Given the description of an element on the screen output the (x, y) to click on. 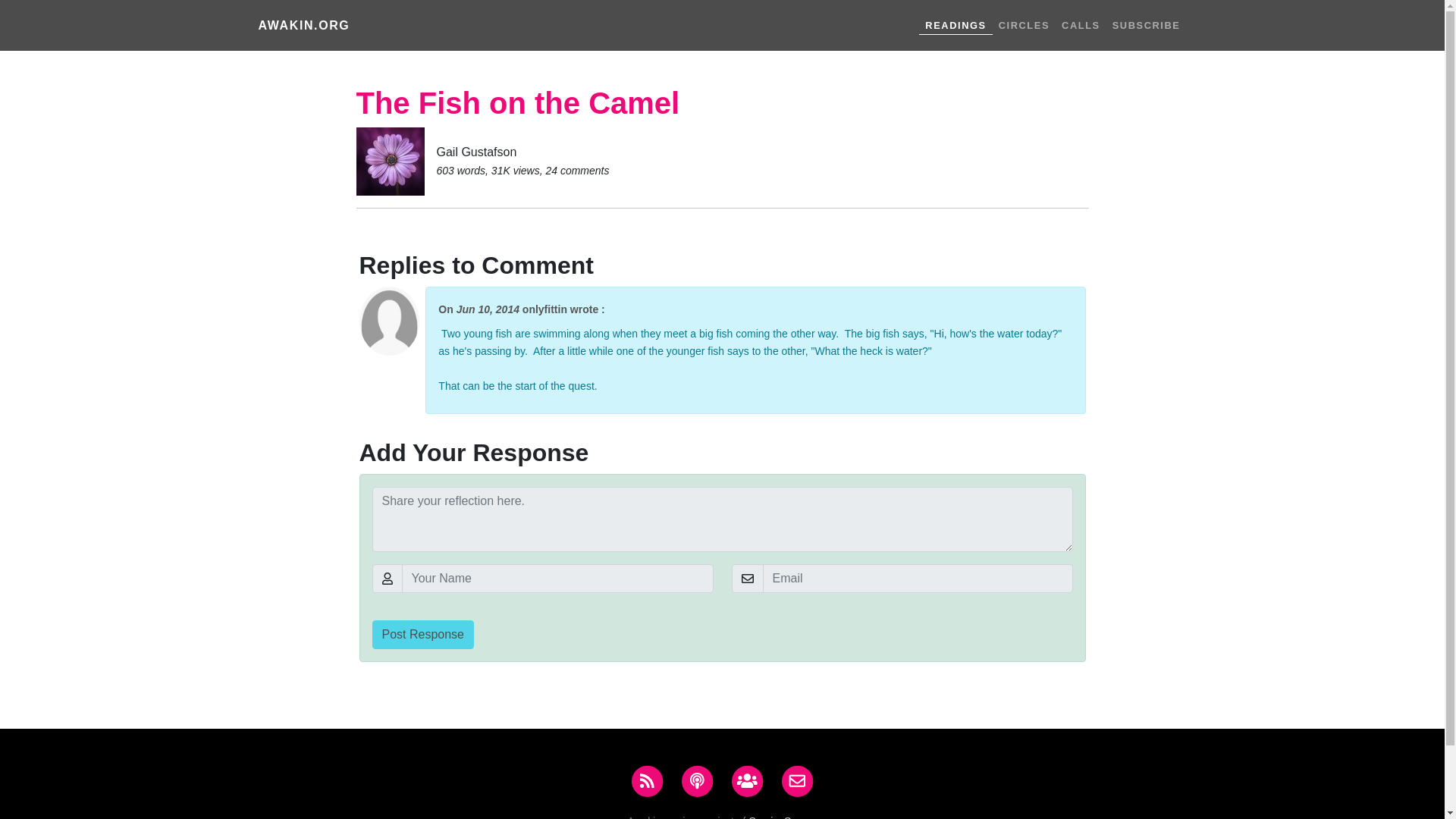
Post Response (422, 634)
CALLS (1080, 25)
ServiceSpace (780, 816)
CIRCLES (1023, 25)
SUBSCRIBE (1146, 25)
The Fish on the Camel (517, 102)
READINGS (954, 23)
AWAKIN.ORG (303, 25)
